Given the description of an element on the screen output the (x, y) to click on. 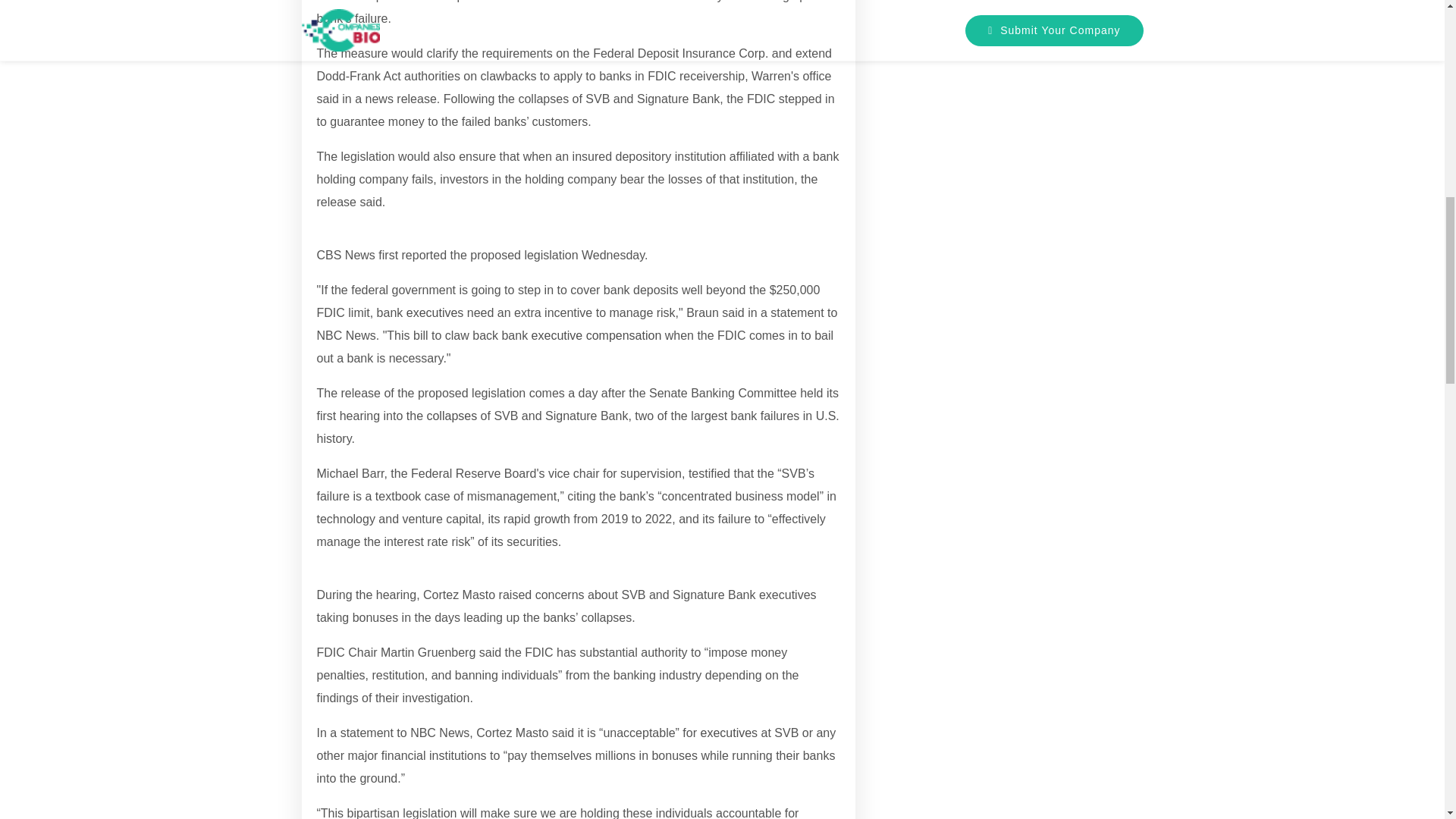
collapses (451, 415)
executive (557, 335)
compensation (624, 335)
executive (725, 732)
executive (725, 732)
collapses (451, 415)
executive (432, 312)
executive (432, 312)
compensation (624, 335)
executive (557, 335)
